Given the description of an element on the screen output the (x, y) to click on. 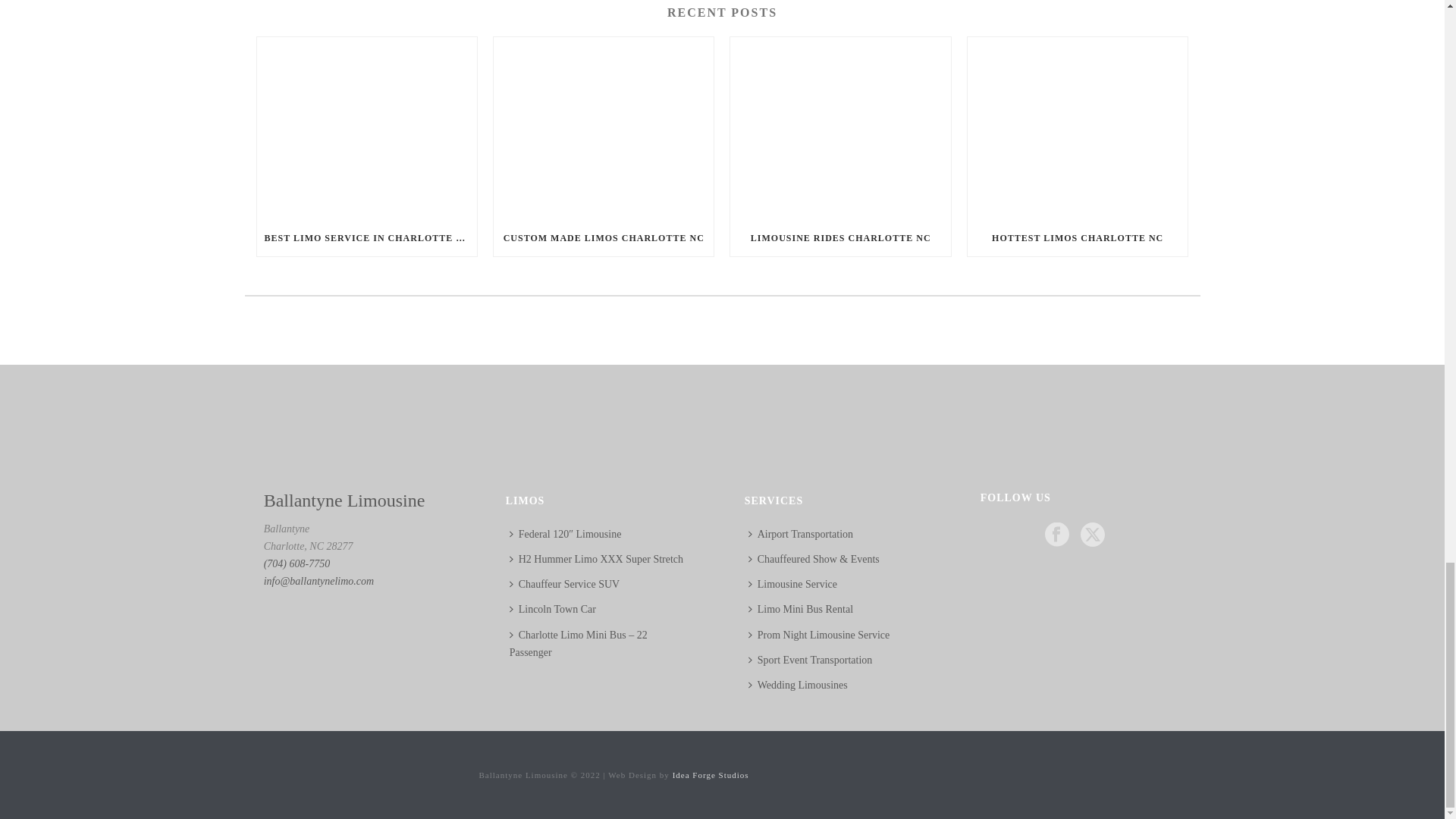
Custom Made Limos Charlotte NC (603, 128)
Hottest Limos Charlotte NC (1078, 128)
Limousine Rides Charlotte NC (840, 128)
Best Limo Service in Charlotte NC (366, 128)
Follow Us on twitter (1092, 535)
Follow Us on facebook (1056, 535)
Ballantyne Limousine (345, 773)
